Given the description of an element on the screen output the (x, y) to click on. 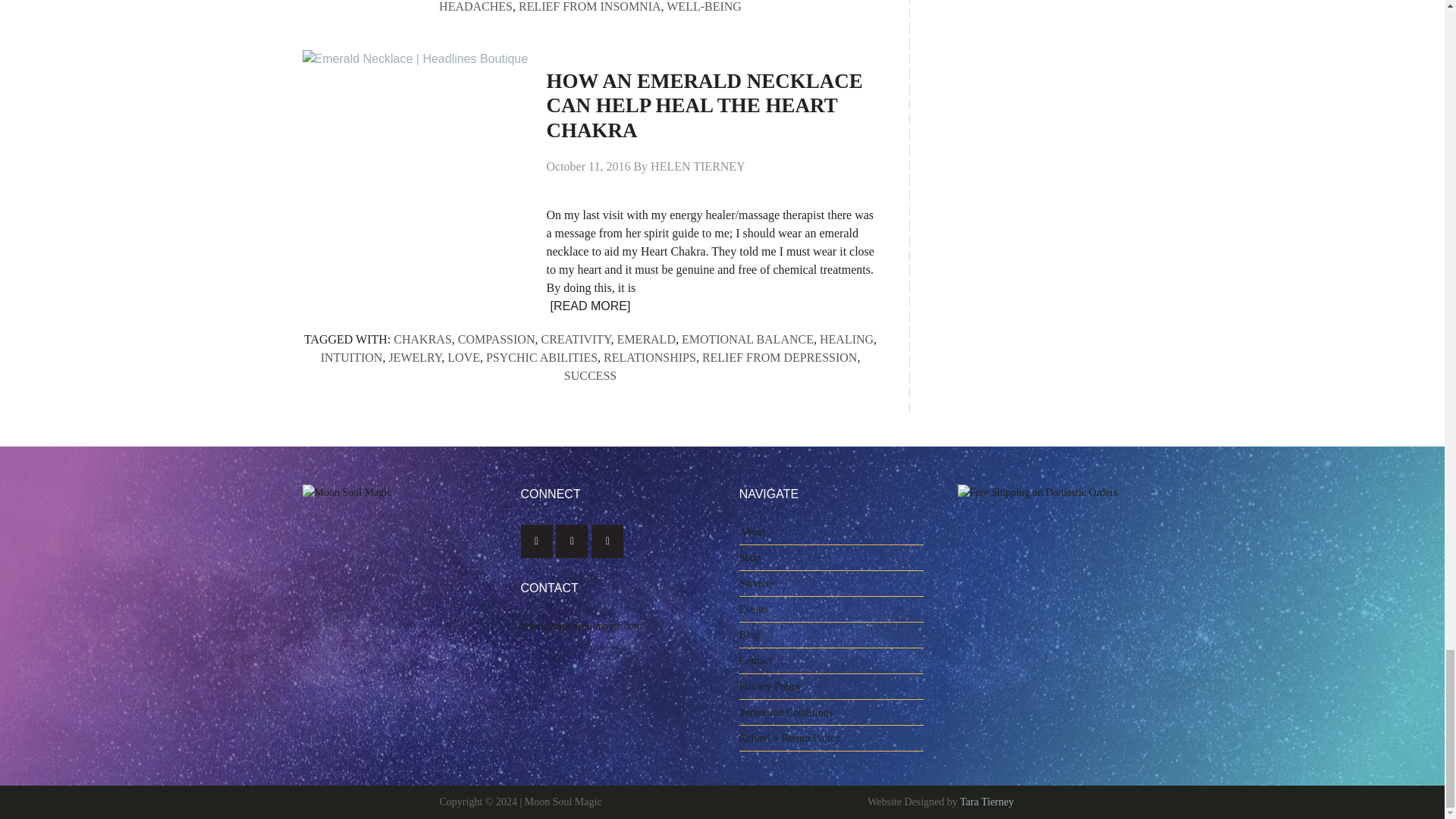
MOON SOUL MAGIC on Pinterest (607, 540)
Moon Soul Magic (357, 541)
MOON SOUL MAGIC on Instagram (572, 540)
MOON SOUL MAGIC on Facebook (537, 540)
Free Shipping Button (1050, 576)
